Given the description of an element on the screen output the (x, y) to click on. 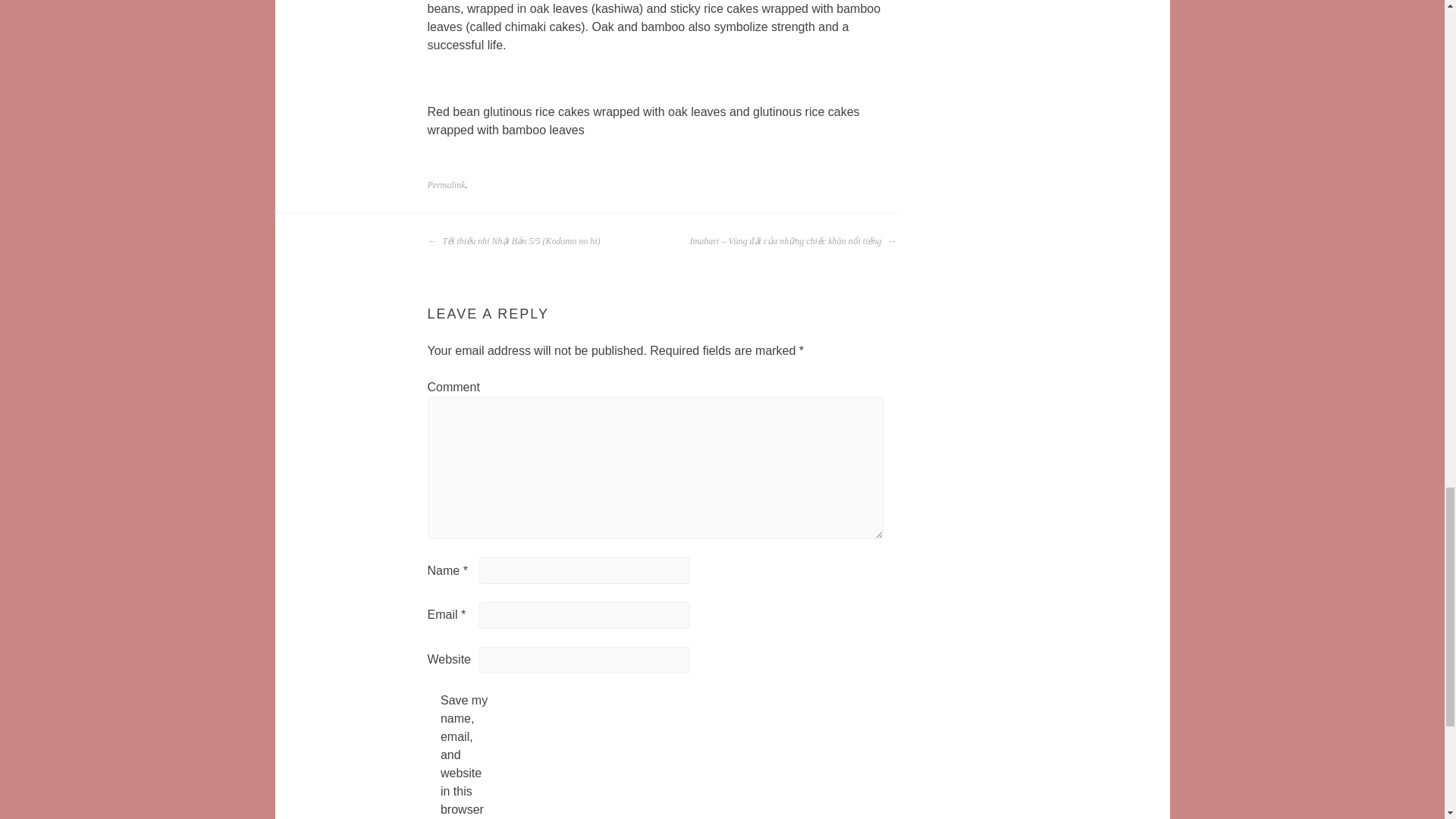
Permalink (446, 184)
